Given the description of an element on the screen output the (x, y) to click on. 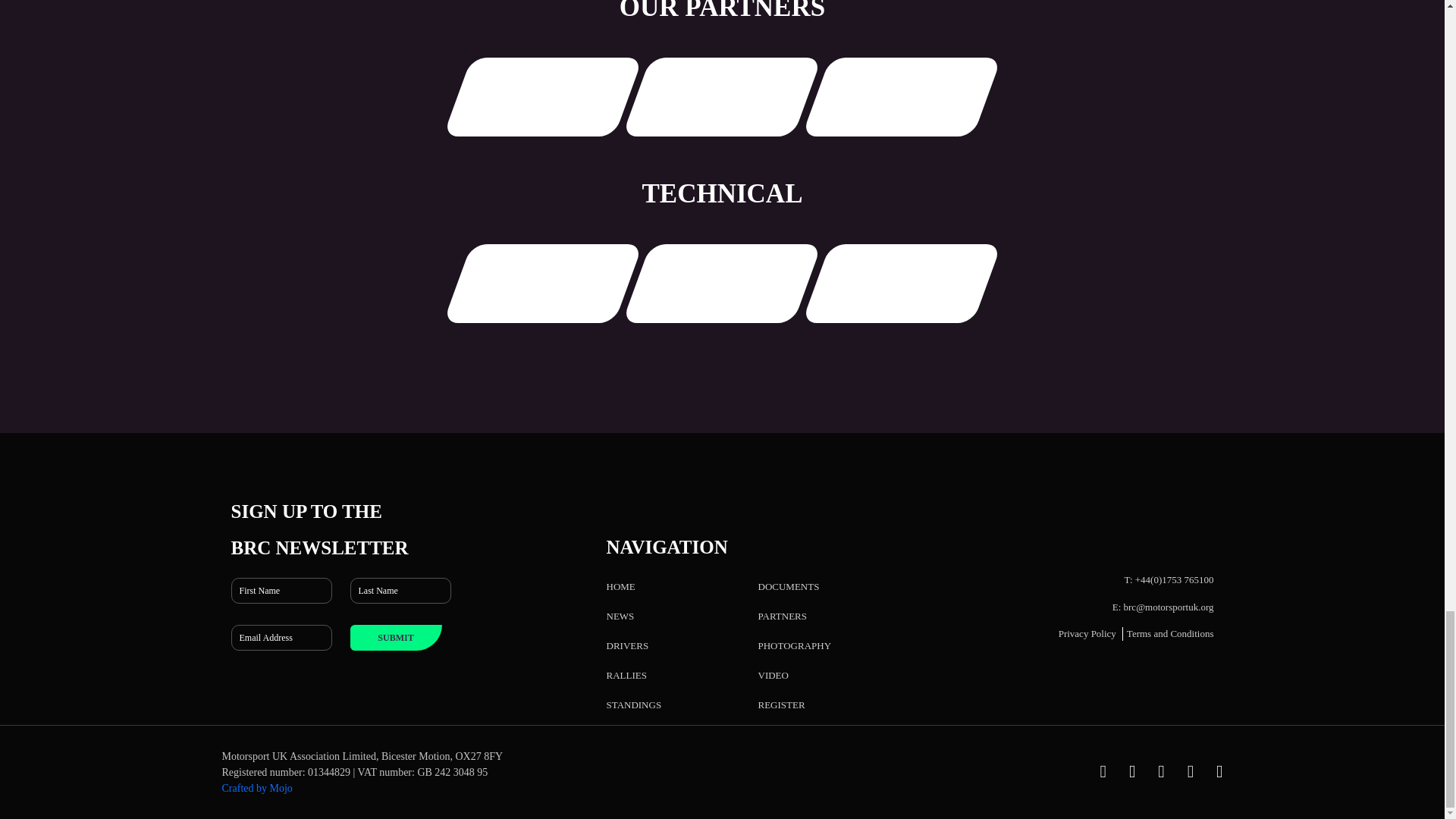
Submit (396, 637)
STANDINGS (634, 704)
Submit (396, 637)
Privacy Policy (1087, 633)
HOME (620, 586)
RALLIES (626, 674)
DOCUMENTS (788, 586)
NEWS (620, 615)
DRIVERS (628, 645)
PARTNERS (783, 615)
